Given the description of an element on the screen output the (x, y) to click on. 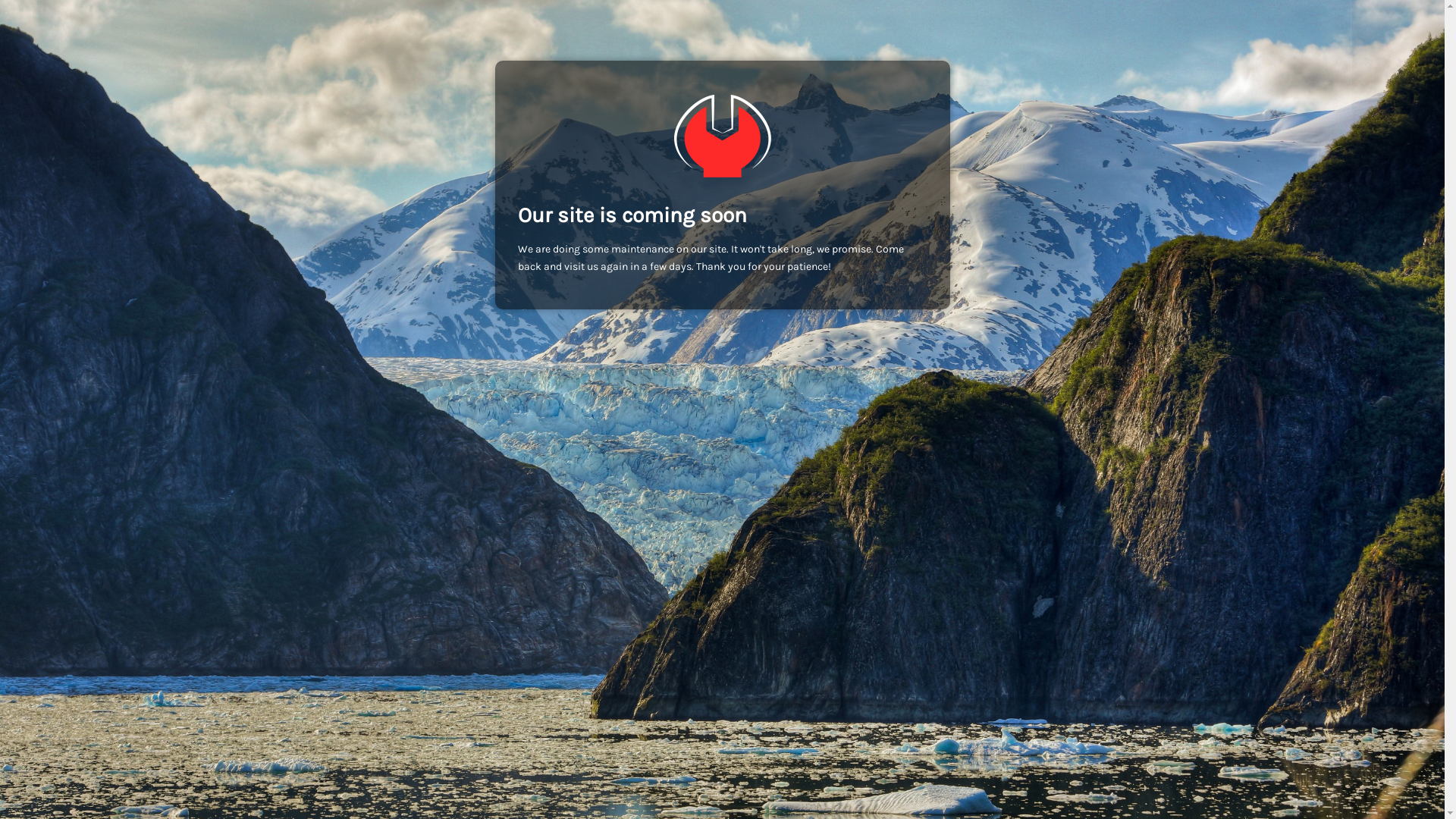
Alimashop Bern | Online Supermarkt | Online Lieferdienst Element type: hover (721, 135)
